Given the description of an element on the screen output the (x, y) to click on. 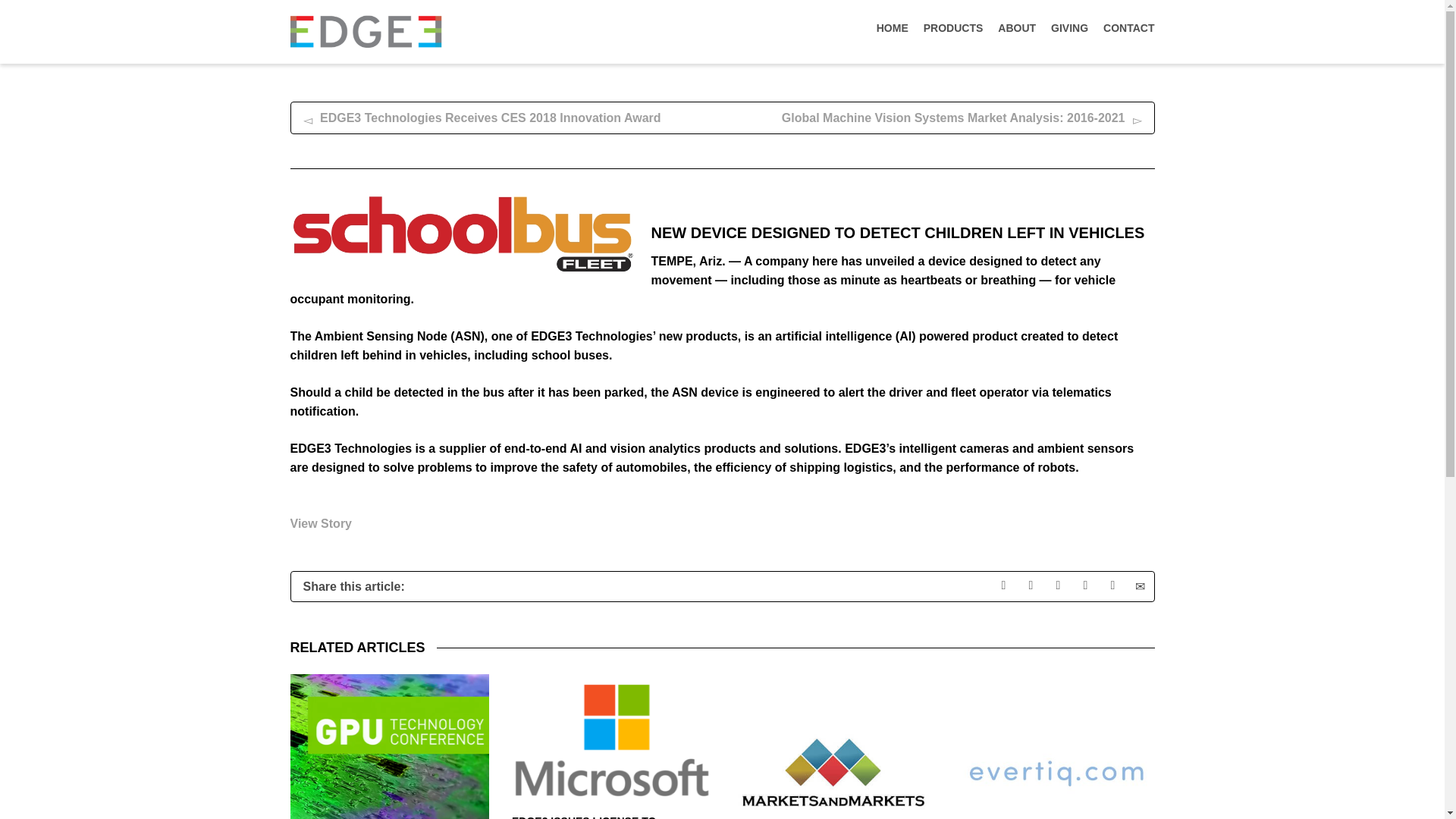
Global Machine Vision Systems Market Analysis: 2016-2021 (937, 117)
CONTACT (1128, 29)
EDGE3 Technologies Receives CES 2018 Innovation Award (506, 117)
Permanent Link to EDGE3 Issues License to Microsoft (584, 816)
PRODUCTS (953, 29)
ABOUT (1016, 29)
GIVING (1069, 29)
NEW DEVICE DESIGNED TO DETECT CHILDREN LEFT IN VEHICLES (897, 232)
View Story (320, 532)
